Given the description of an element on the screen output the (x, y) to click on. 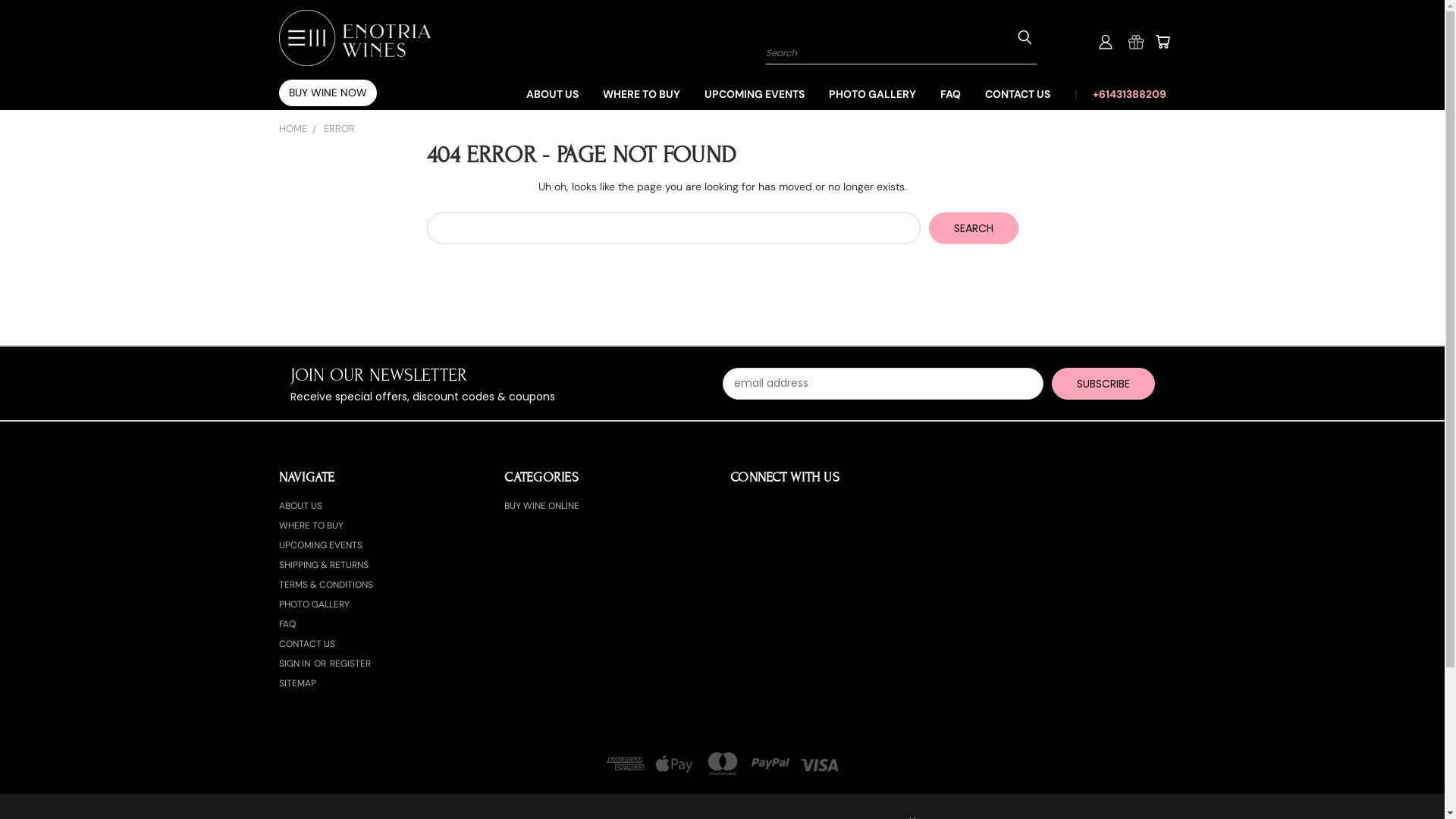
UPCOMING EVENTS Element type: text (753, 92)
WHERE TO BUY Element type: text (640, 92)
FAQ Element type: text (950, 92)
REGISTER Element type: text (349, 666)
PHOTO GALLERY Element type: text (871, 92)
ABOUT US Element type: text (300, 508)
SIGN IN Element type: text (295, 666)
CONTACT US Element type: text (1016, 92)
BUY WINE NOW Element type: text (327, 92)
PHOTO GALLERY Element type: text (314, 607)
CONTACT US Element type: text (307, 646)
SHIPPING & RETURNS Element type: text (323, 567)
TERMS & CONDITIONS Element type: text (326, 587)
SITEMAP Element type: text (297, 686)
Cart Element type: hover (1161, 41)
Subscribe Element type: text (1102, 383)
UPCOMING EVENTS Element type: text (320, 548)
BUY WINE ONLINE Element type: text (541, 508)
Submit Search Element type: hover (1024, 36)
FAQ Element type: text (287, 627)
Enotria Wines Element type: hover (354, 37)
ABOUT US Element type: text (552, 92)
Gift Certificates Element type: hover (1135, 41)
HOME Element type: text (293, 128)
Search Element type: text (973, 228)
User Toolbox Element type: hover (1105, 41)
+61431388209 Element type: text (1122, 92)
WHERE TO BUY Element type: text (311, 528)
